Given the description of an element on the screen output the (x, y) to click on. 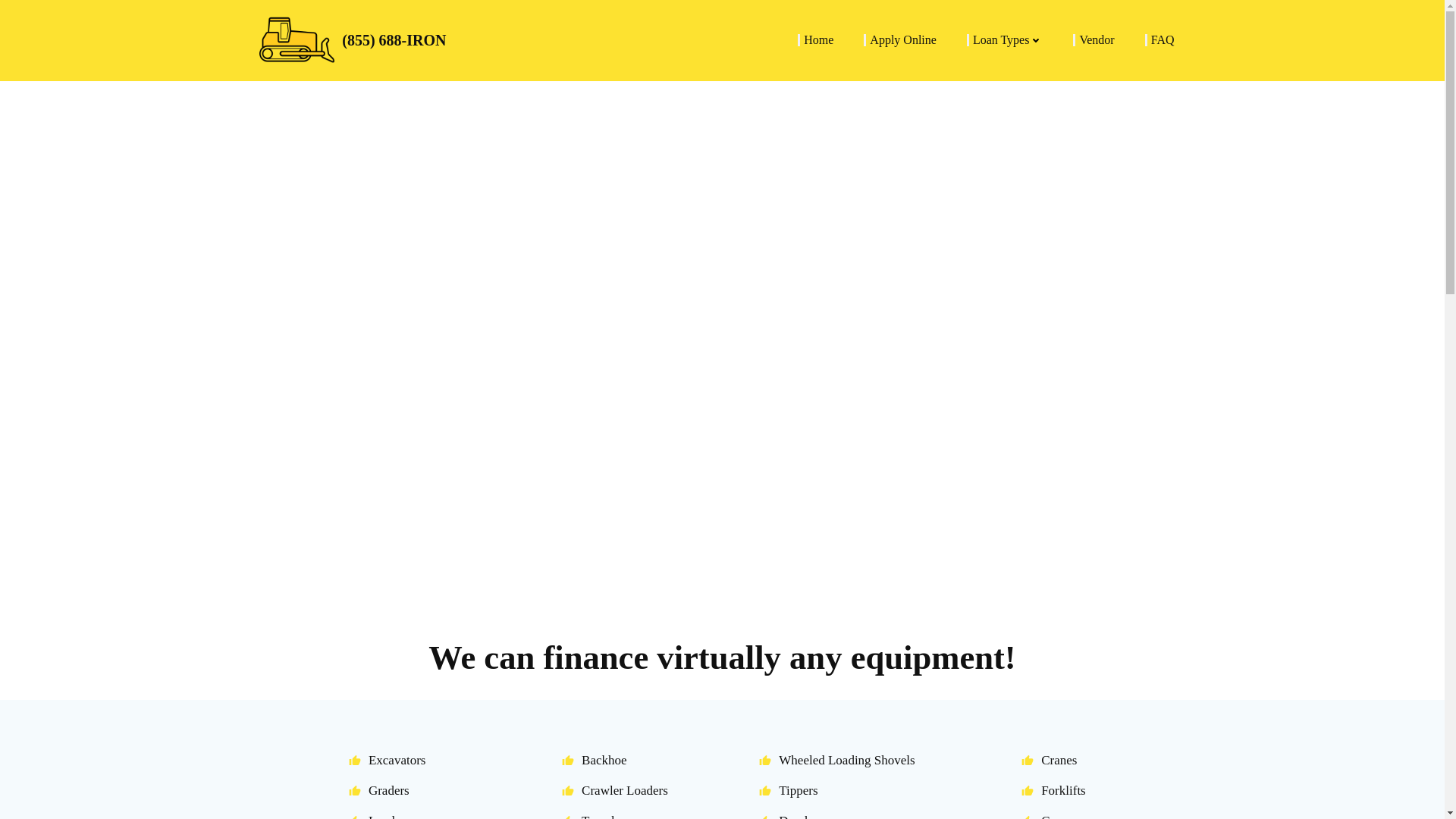
Privacy Policy (922, 769)
Crawler Loaders (611, 790)
Home (817, 39)
Backhoe (611, 760)
Loan Types (1007, 39)
Apply Online (902, 39)
FAQ (1162, 39)
Tippers (832, 790)
Excavators (388, 760)
Dumbers (832, 816)
Cranes (1055, 760)
Vendor (1095, 39)
Conveyors (1055, 816)
Wheeled Loading Shovels (832, 760)
